Given the description of an element on the screen output the (x, y) to click on. 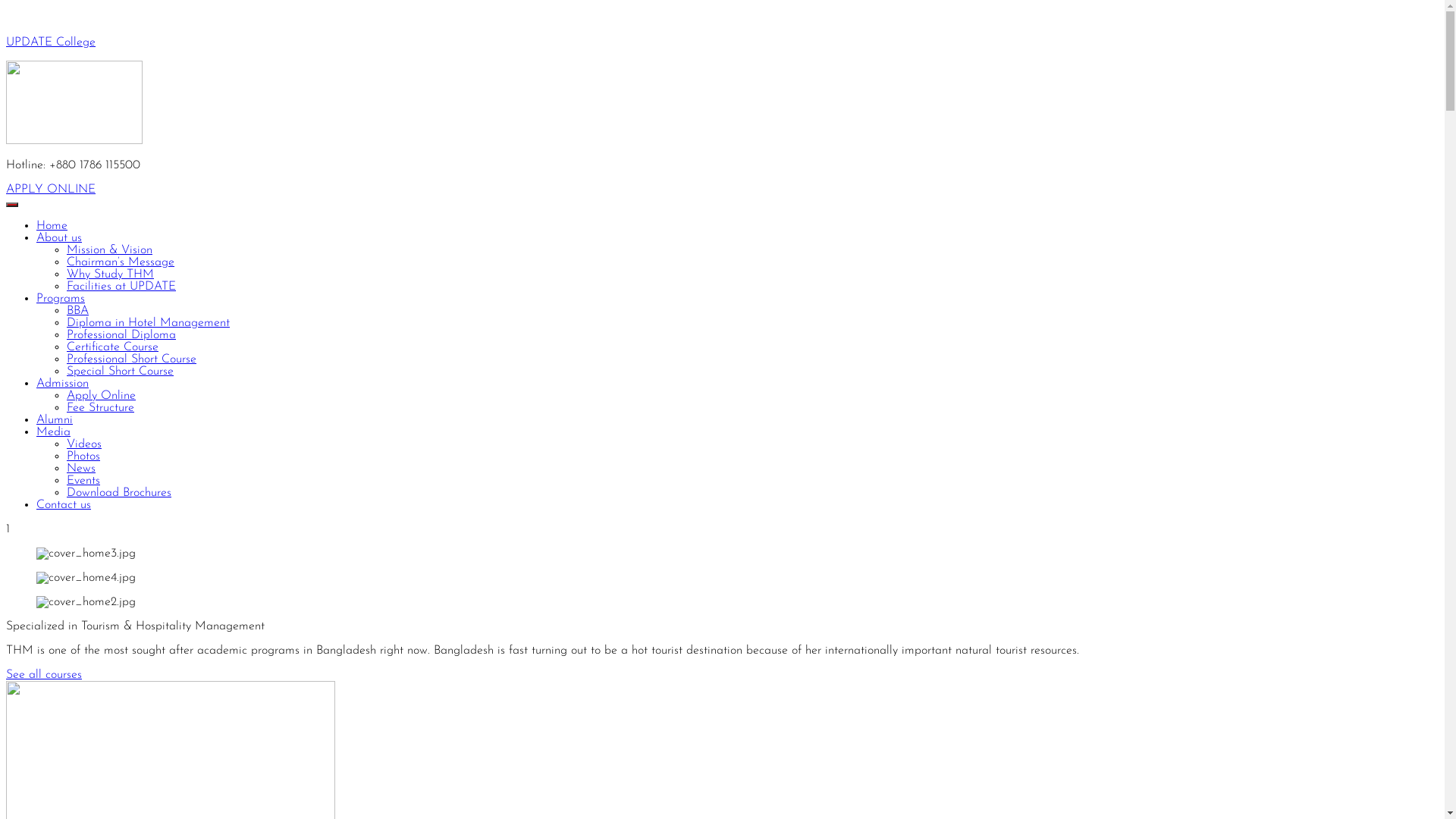
See all courses Element type: text (43, 674)
Certificate Course Element type: text (112, 347)
Fee Structure Element type: text (100, 407)
Home Element type: text (51, 225)
Facilities at UPDATE Element type: text (120, 286)
BBA Element type: text (77, 310)
Apply Online Element type: text (100, 395)
Why Study THM Element type: text (109, 274)
Photos Element type: text (83, 456)
Media Element type: text (53, 432)
Diploma in Hotel Management Element type: text (147, 322)
Videos Element type: text (83, 444)
Contact us Element type: text (63, 504)
Programs Element type: text (60, 298)
APPLY ONLINE Element type: text (50, 189)
Professional Short Course Element type: text (131, 359)
Professional Diploma Element type: text (120, 335)
Special Short Course Element type: text (119, 371)
UPDATE College Element type: text (50, 42)
News Element type: text (80, 468)
Alumni Element type: text (54, 420)
About us Element type: text (58, 238)
Events Element type: text (83, 480)
Mission & Vision Element type: text (109, 250)
Admission Element type: text (62, 383)
Download Brochures Element type: text (118, 492)
